Given the description of an element on the screen output the (x, y) to click on. 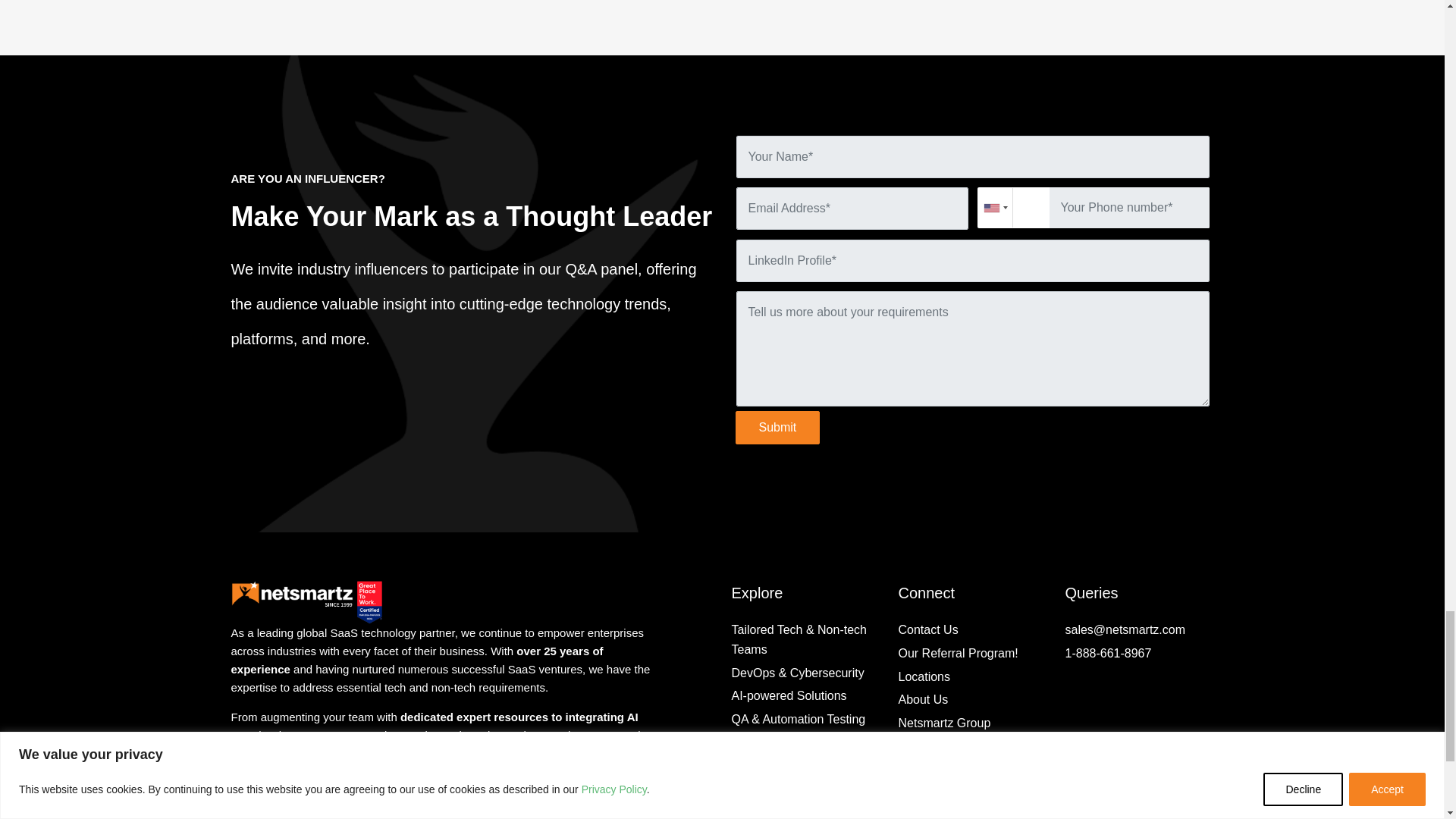
Submit (778, 427)
